Given the description of an element on the screen output the (x, y) to click on. 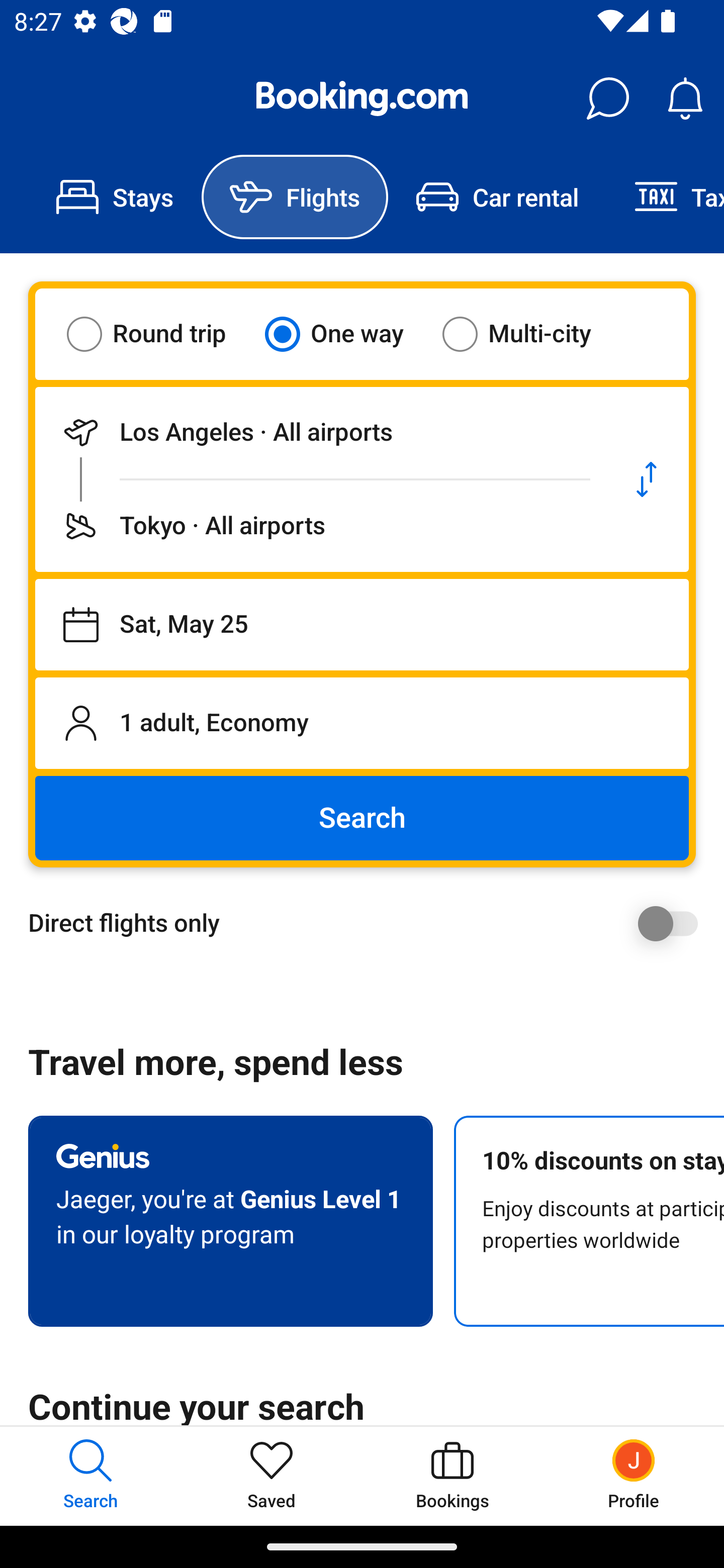
Messages (607, 98)
Notifications (685, 98)
Stays (114, 197)
Flights (294, 197)
Car rental (497, 197)
Taxi (665, 197)
Round trip (158, 333)
Multi-city (528, 333)
Departing from Los Angeles · All airports (319, 432)
Swap departure location and destination (646, 479)
Flying to Tokyo · All airports (319, 525)
Departing on Sat, May 25 (361, 624)
1 adult, Economy (361, 722)
Search (361, 818)
Direct flights only (369, 923)
Saved (271, 1475)
Bookings (452, 1475)
Profile (633, 1475)
